Given the description of an element on the screen output the (x, y) to click on. 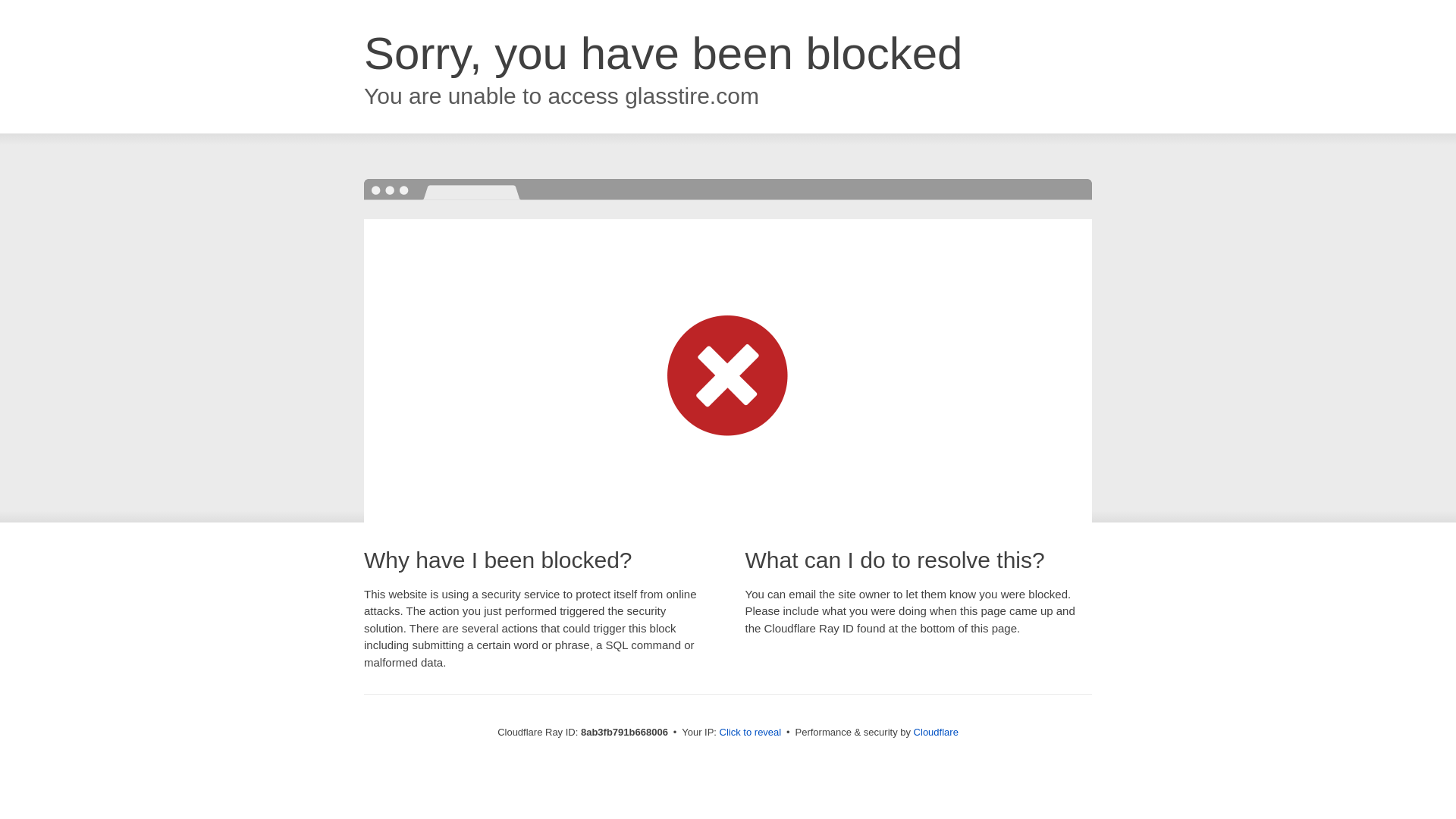
Cloudflare (936, 731)
Click to reveal (750, 732)
